Given the description of an element on the screen output the (x, y) to click on. 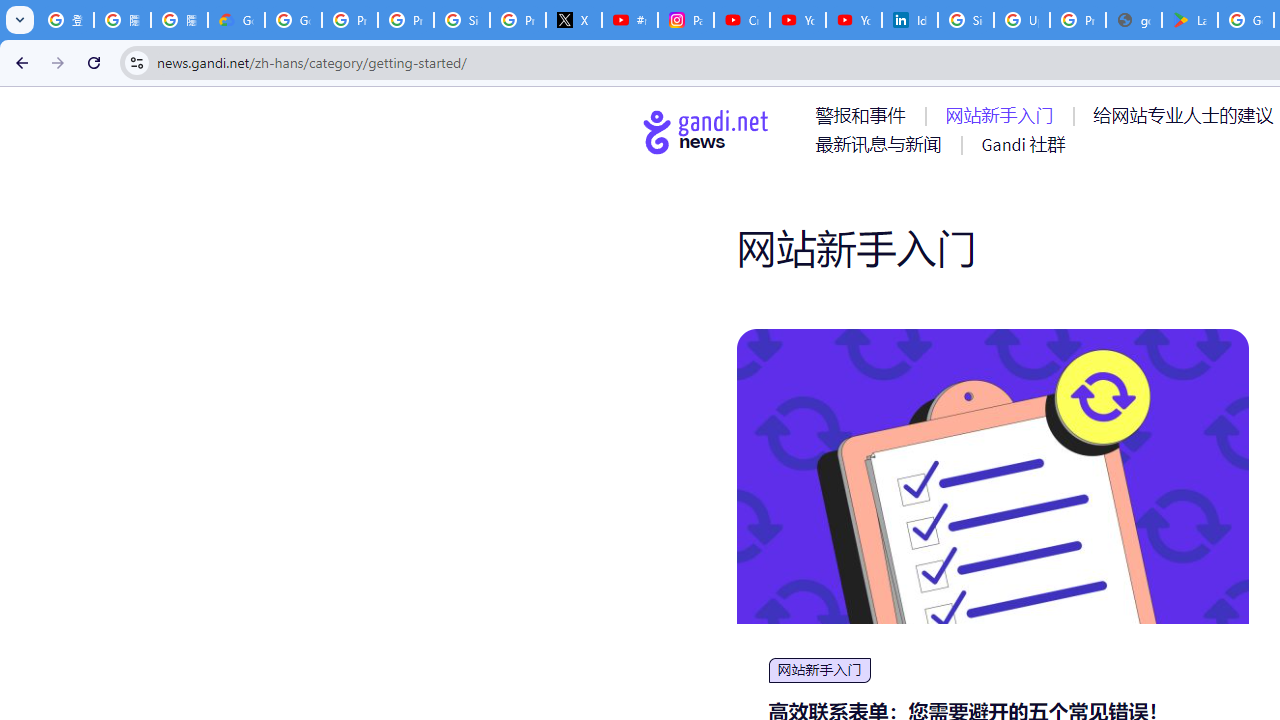
AutomationID: menu-item-77761 (863, 115)
YouTube Culture & Trends - YouTube Top 10, 2021 (853, 20)
Sign in - Google Accounts (461, 20)
#nbabasketballhighlights - YouTube (629, 20)
Google Cloud Privacy Notice (235, 20)
Privacy Help Center - Policies Help (405, 20)
